Given the description of an element on the screen output the (x, y) to click on. 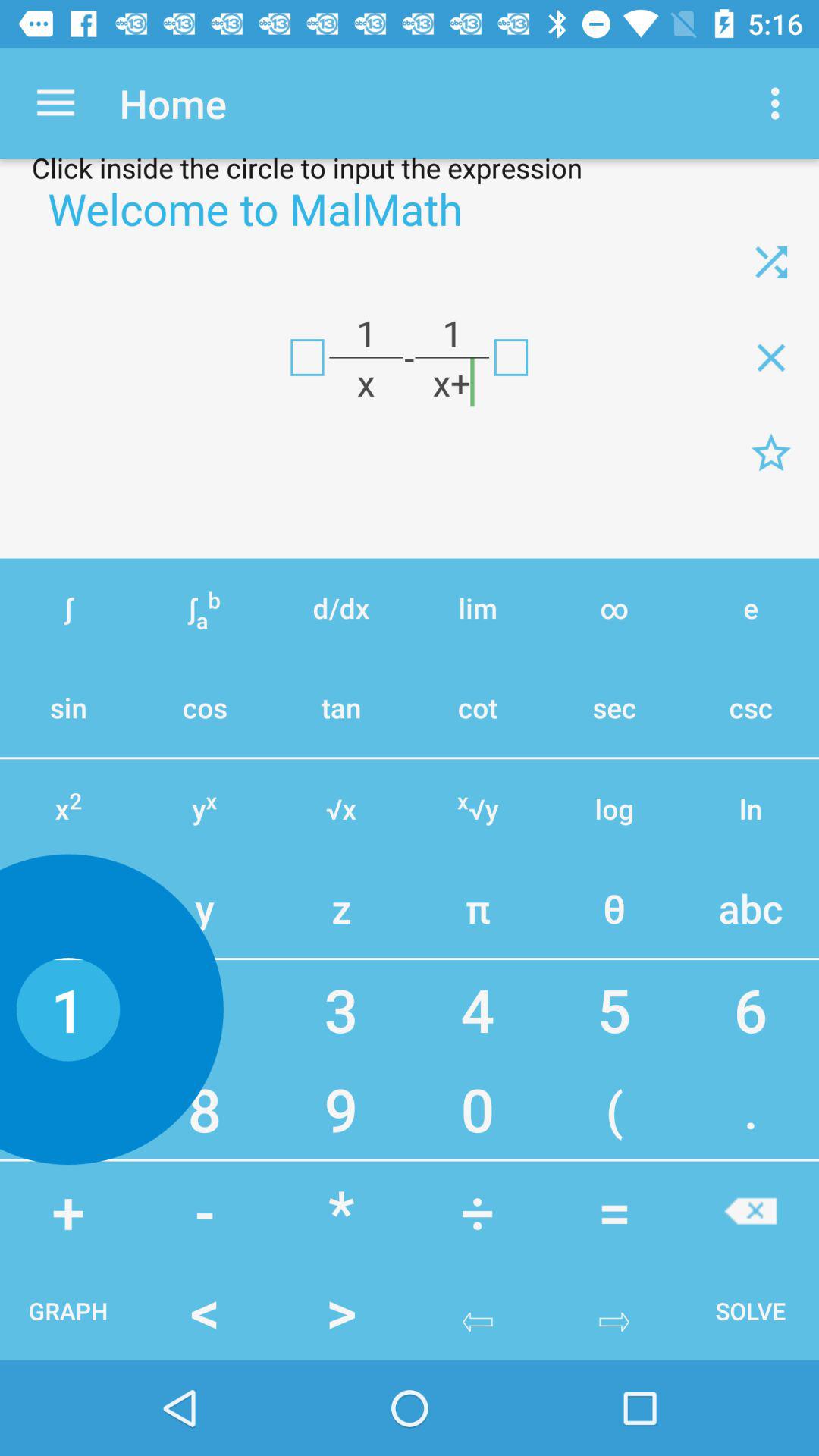
increment button (750, 1210)
